Given the description of an element on the screen output the (x, y) to click on. 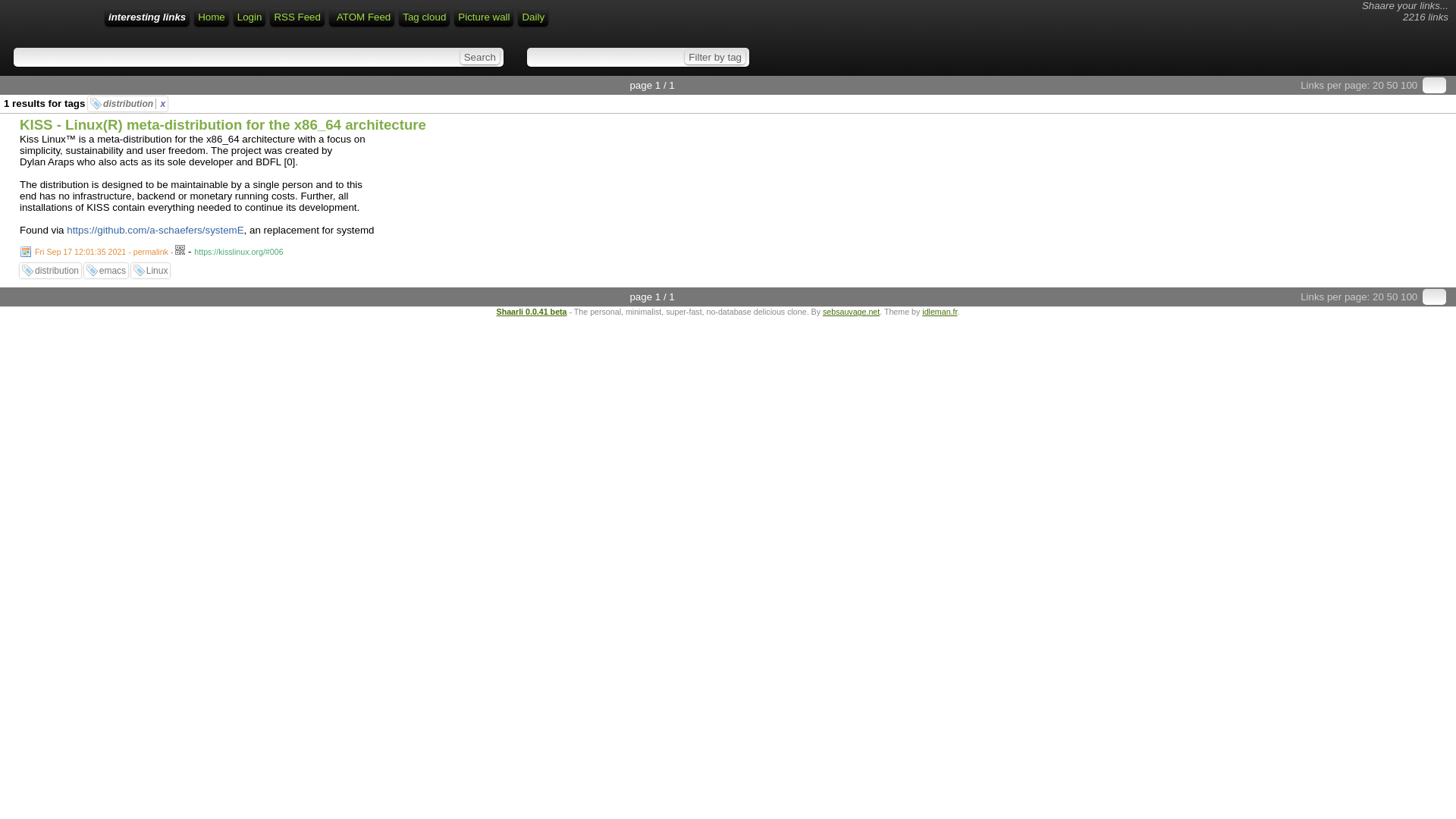
distribution (56, 270)
Add tag (106, 270)
Login (249, 16)
Picture wall (483, 16)
Short link (237, 251)
Daily (533, 16)
Filter by tag (714, 56)
emacs (112, 270)
100 (1408, 296)
Permalink (97, 251)
